Given the description of an element on the screen output the (x, y) to click on. 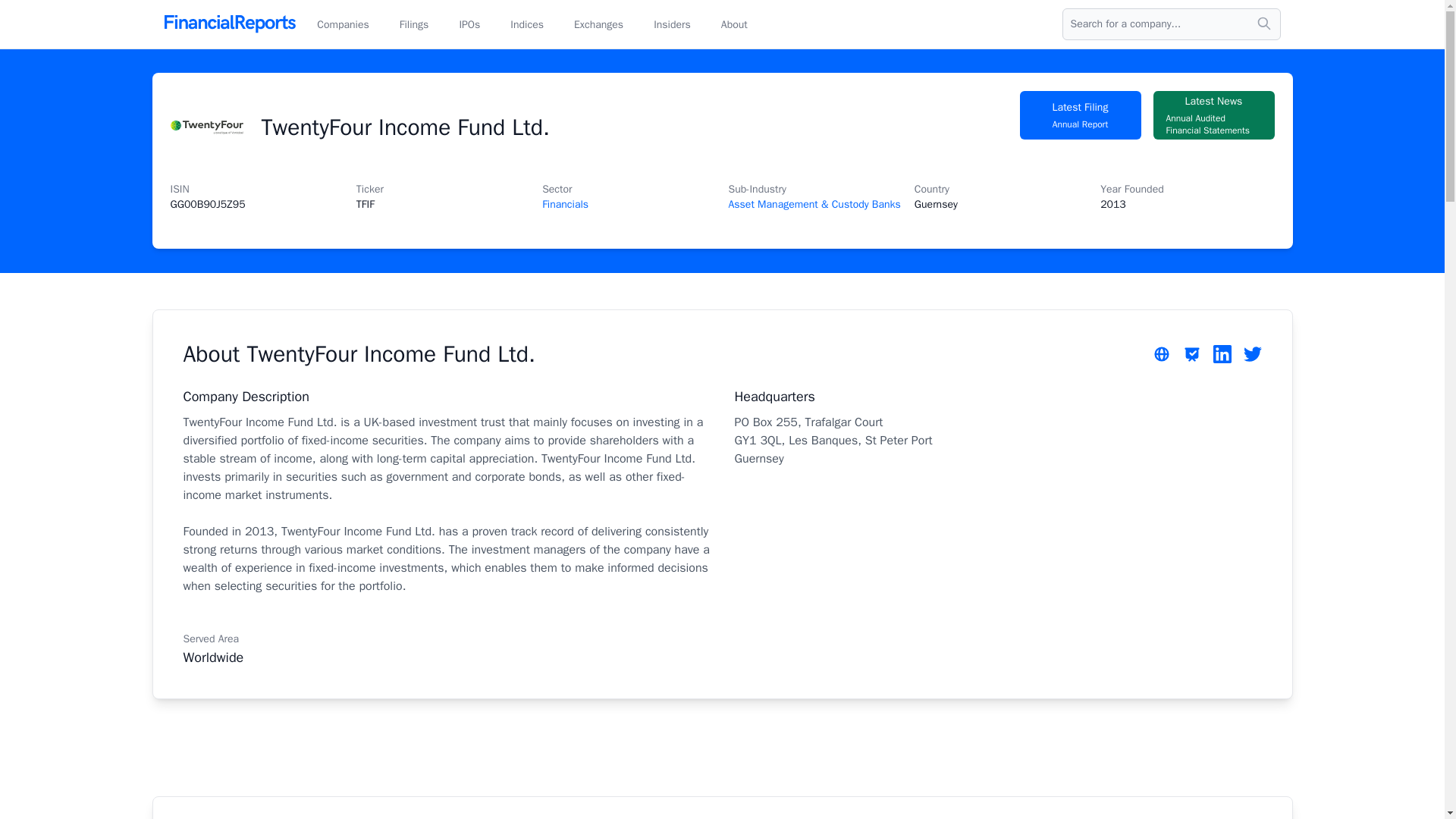
IPOs (1079, 114)
Companies (469, 24)
Indices (343, 24)
Insiders (526, 24)
Financials (672, 24)
About (564, 204)
Filings (1213, 114)
Exchanges (734, 24)
